Given the description of an element on the screen output the (x, y) to click on. 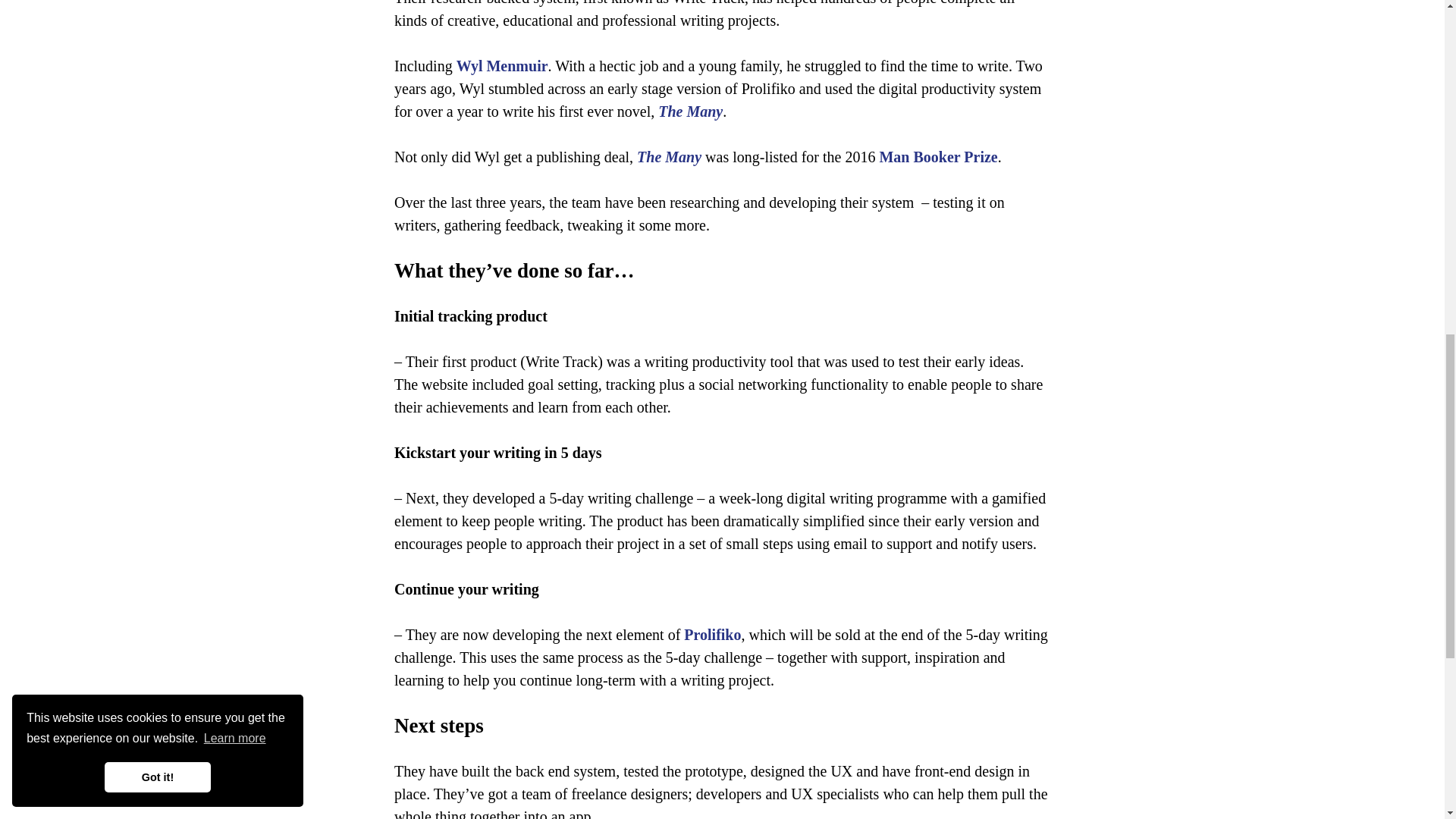
The Many (690, 111)
Wyl Menmuir (502, 65)
Man Booker Prize (938, 156)
Prolifiko (712, 634)
The Many (669, 156)
